Given the description of an element on the screen output the (x, y) to click on. 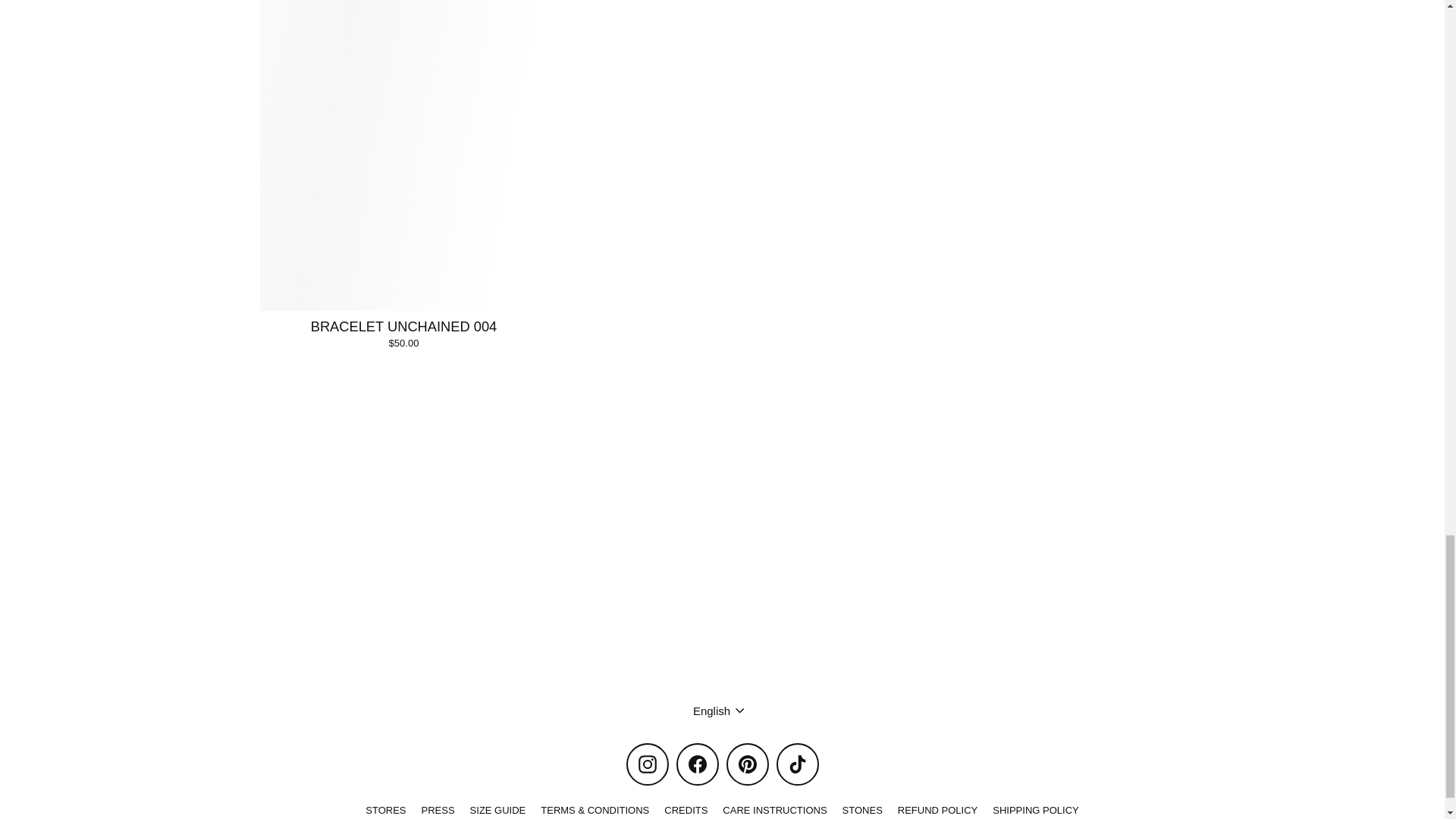
llayers on Instagram (647, 763)
llayers on TikTok (797, 763)
instagram (647, 764)
llayers on Pinterest (747, 763)
llayers on Facebook (698, 763)
